Given the description of an element on the screen output the (x, y) to click on. 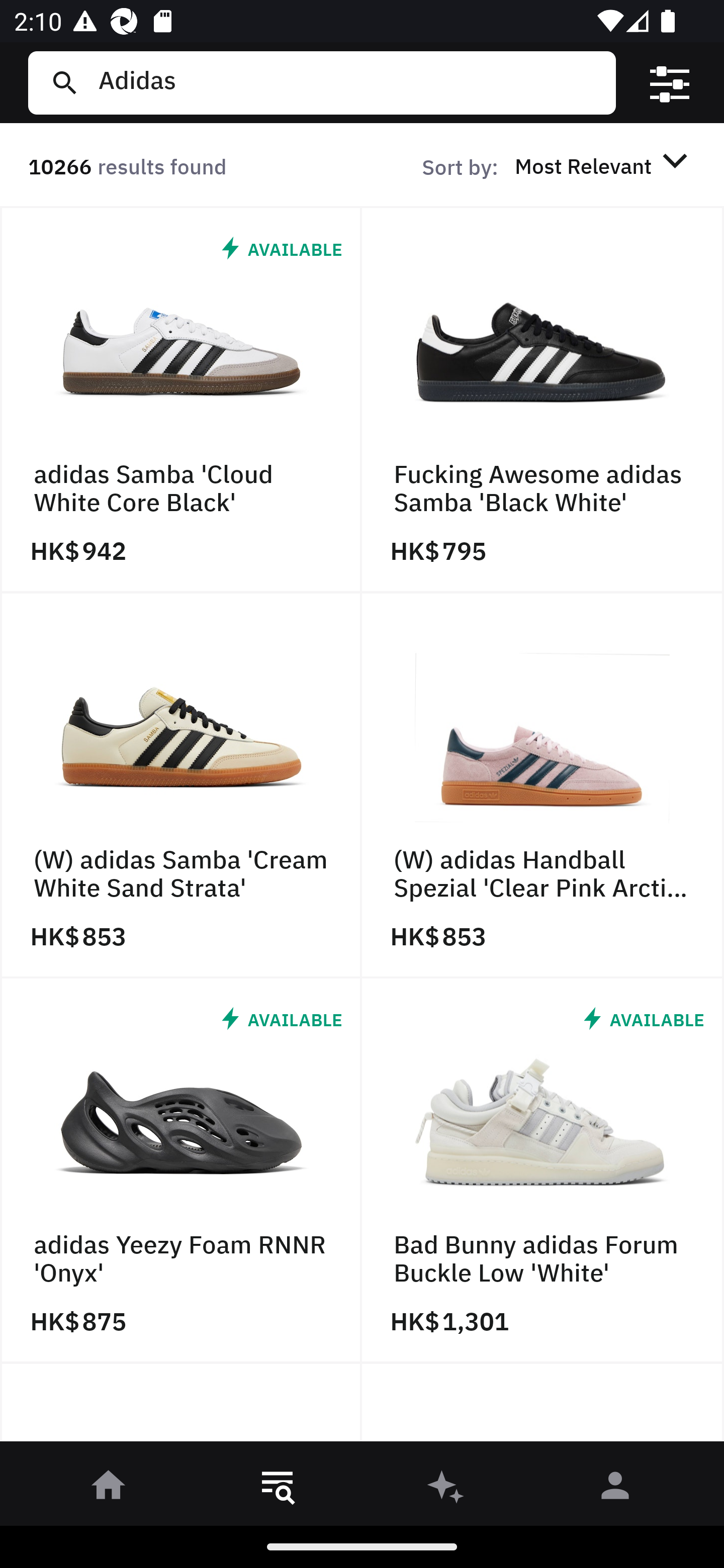
Adidas (349, 82)
 (669, 82)
Most Relevant  (604, 165)
Fucking Awesome adidas Samba 'Black White' HK$ 795 (543, 399)
(W) adidas Samba 'Cream White Sand Strata' HK$ 853 (181, 785)
 AVAILABLE adidas Yeezy Foam RNNR 'Onyx' HK$ 875 (181, 1171)
󰋜 (108, 1488)
󱎸 (277, 1488)
󰫢 (446, 1488)
󰀄 (615, 1488)
